Given the description of an element on the screen output the (x, y) to click on. 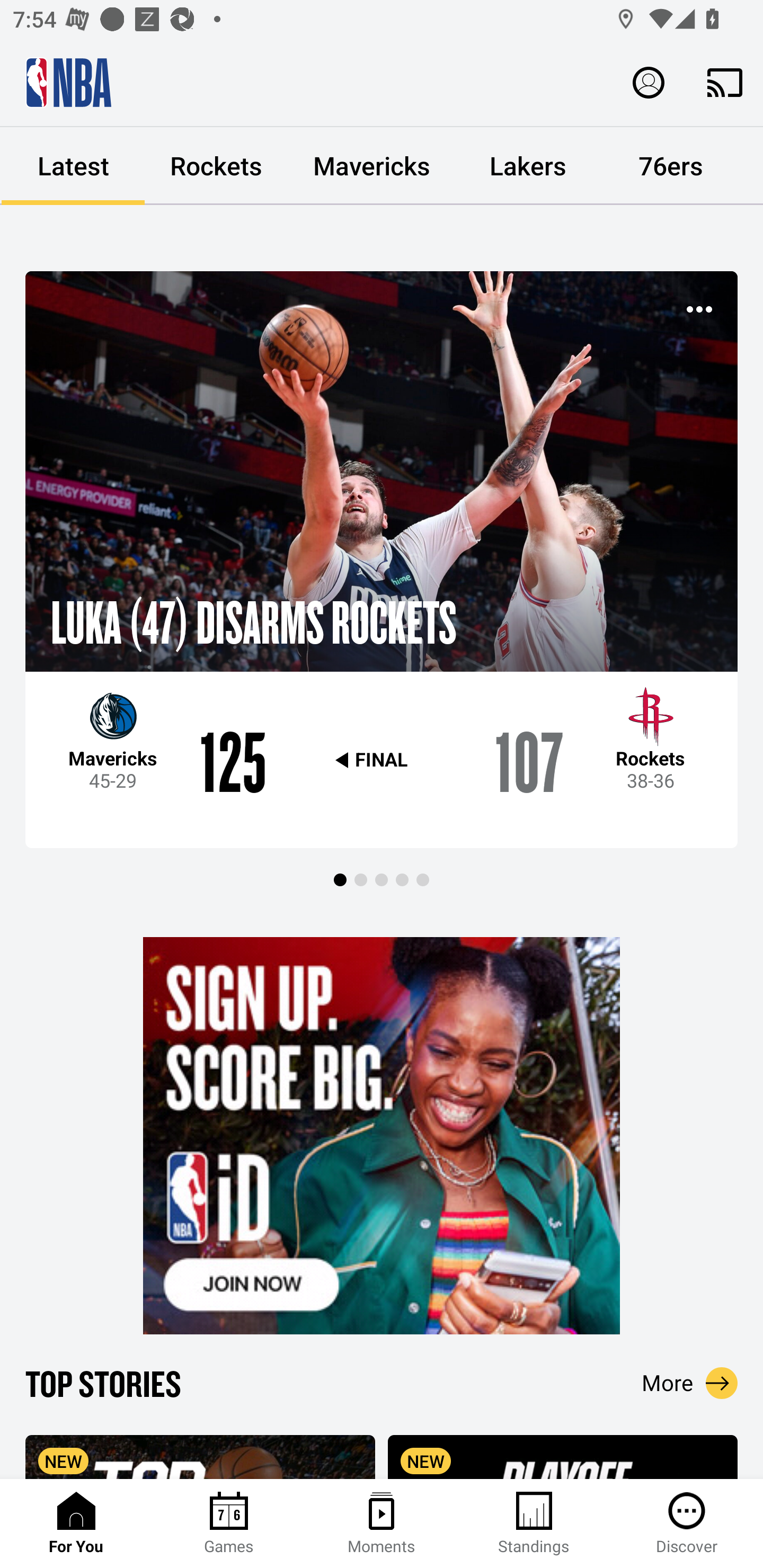
Cast. Disconnected (724, 82)
Profile (648, 81)
Rockets (215, 166)
Mavericks (371, 166)
Lakers (527, 166)
76ers (670, 166)
More (689, 1382)
Games (228, 1523)
Moments (381, 1523)
Standings (533, 1523)
Discover (686, 1523)
